Given the description of an element on the screen output the (x, y) to click on. 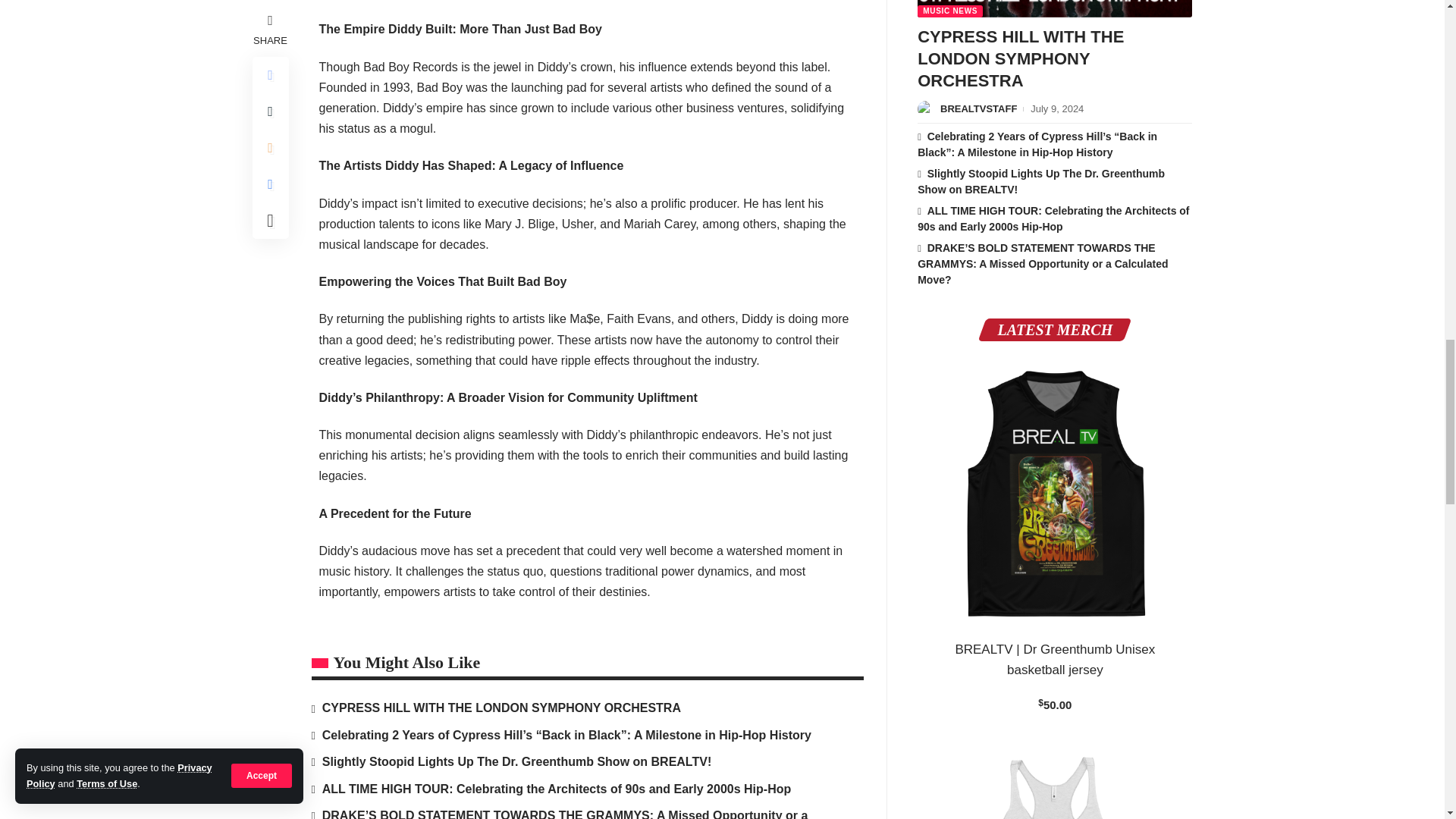
CYPRESS HILL WITH THE LONDON SYMPHONY ORCHESTRA (1054, 8)
